Given the description of an element on the screen output the (x, y) to click on. 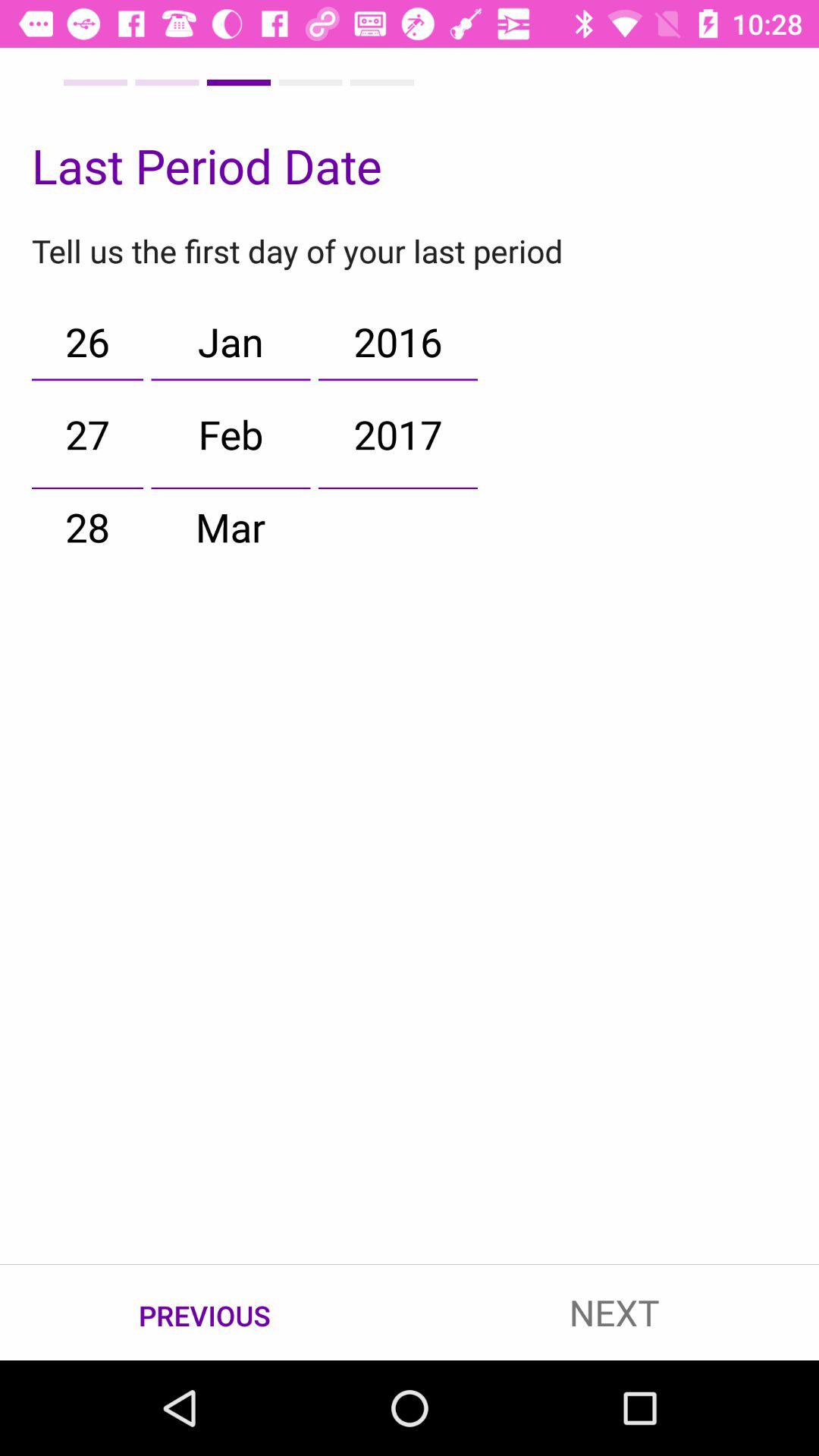
select item at the bottom right corner (614, 1312)
